Given the description of an element on the screen output the (x, y) to click on. 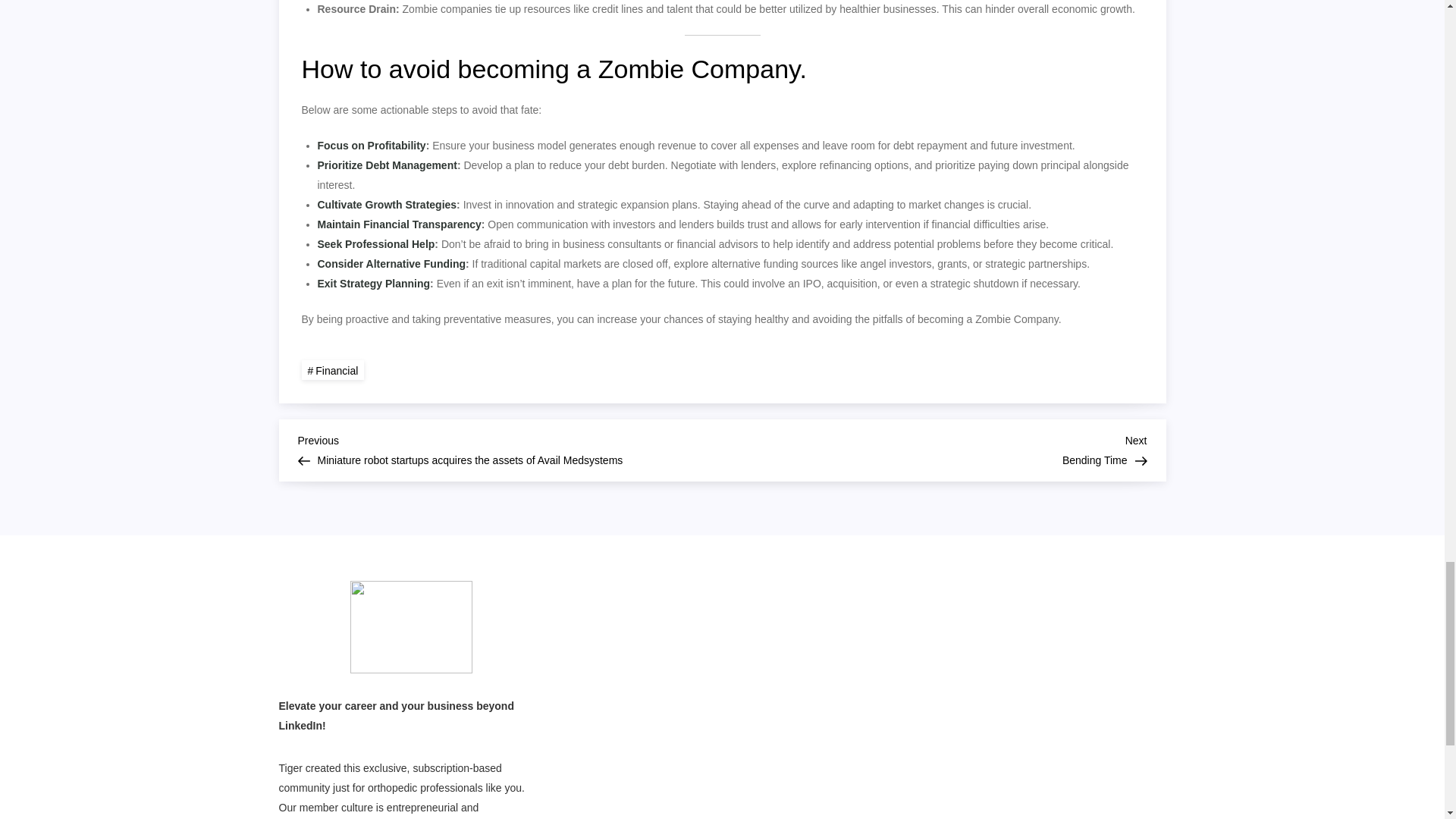
Financial (333, 370)
